Given the description of an element on the screen output the (x, y) to click on. 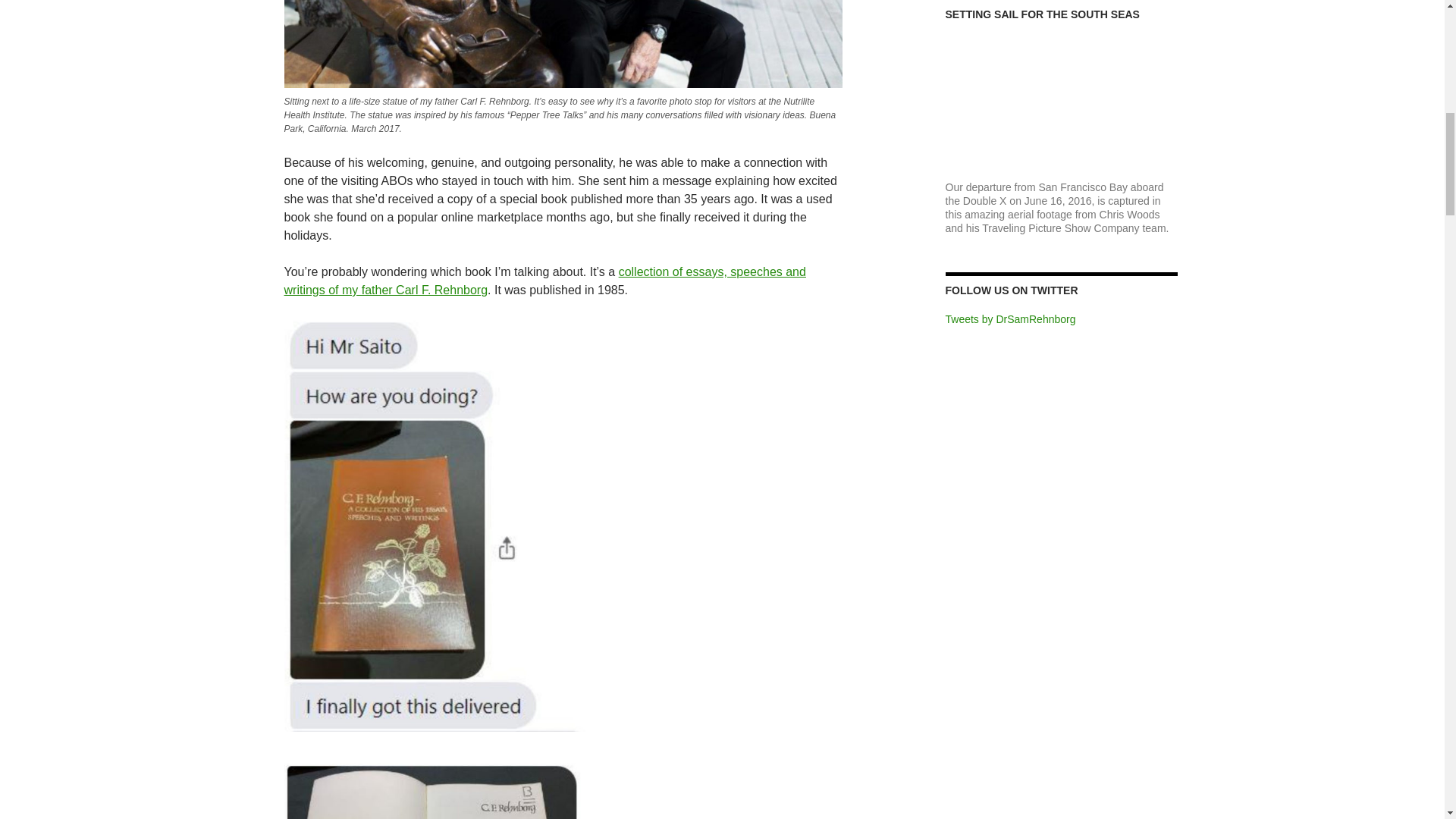
YouTube player (1060, 101)
